Given the description of an element on the screen output the (x, y) to click on. 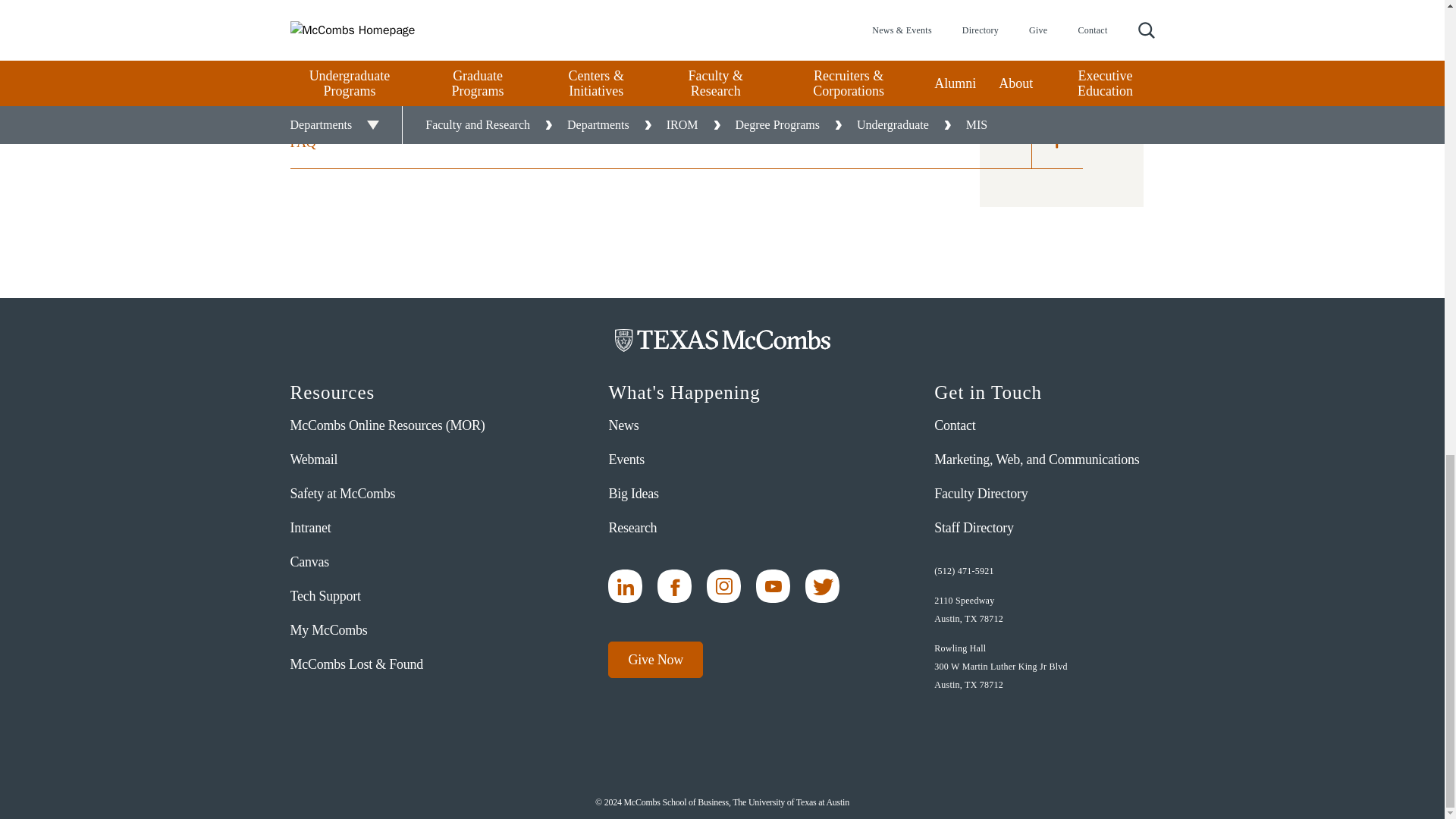
LinkedIn (625, 586)
Facebook (674, 586)
University of Texas (408, 705)
YouTube (772, 586)
Instagram (723, 586)
University of Texas McCombs School of Business (721, 340)
Twitter (822, 586)
